Given the description of an element on the screen output the (x, y) to click on. 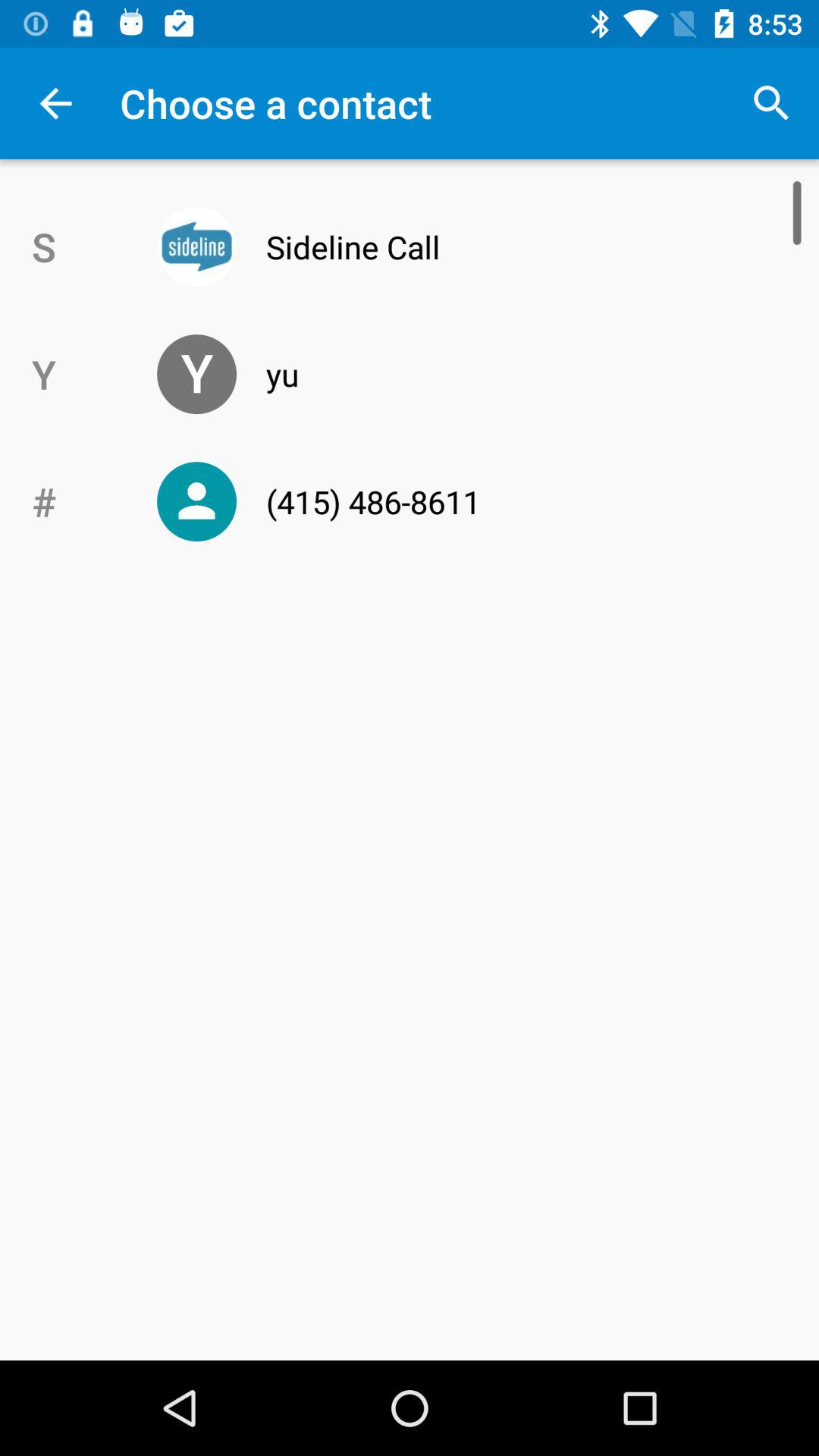
turn on the icon next to the choose a contact item (771, 103)
